Given the description of an element on the screen output the (x, y) to click on. 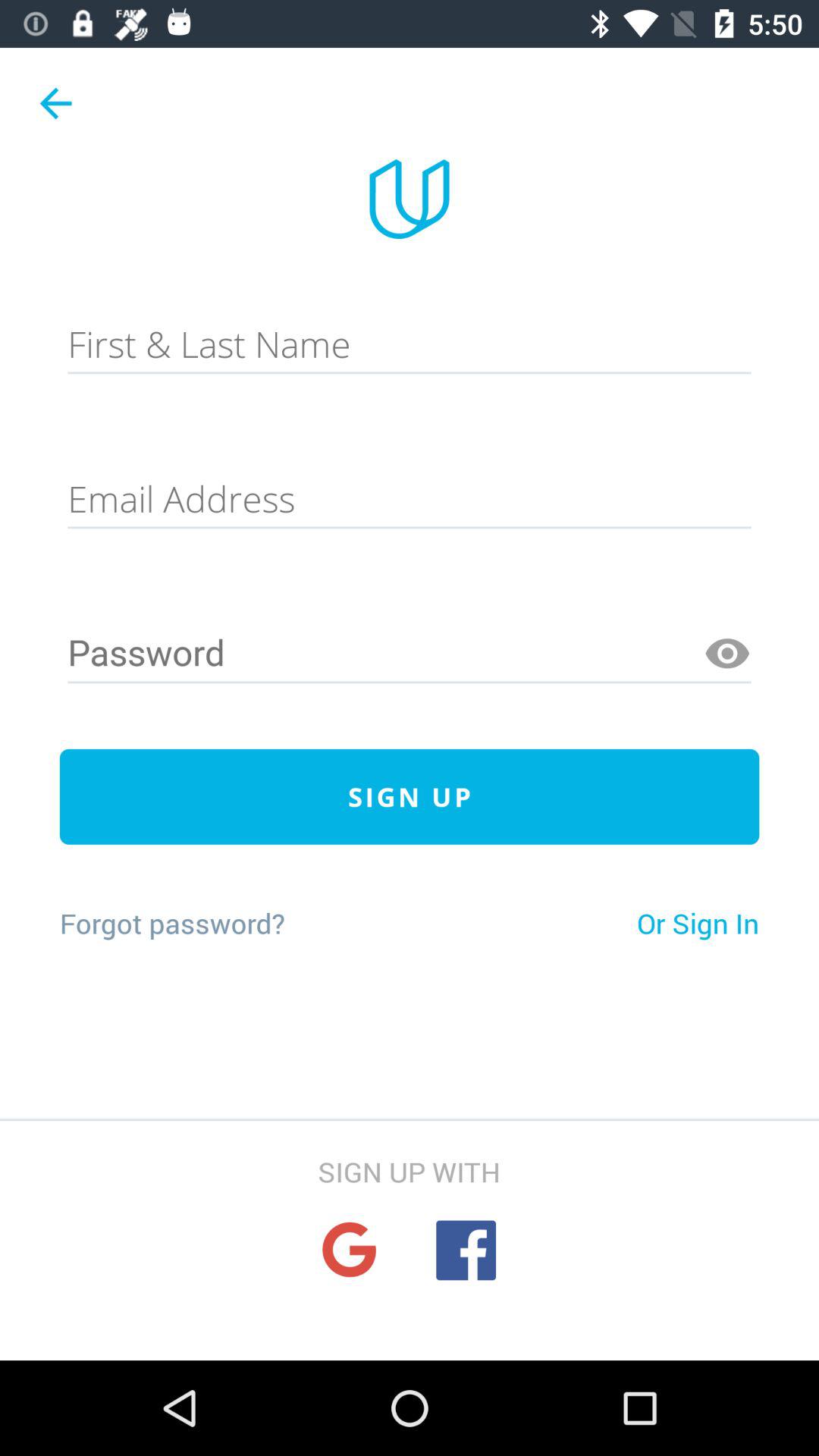
veiw password (727, 653)
